Given the description of an element on the screen output the (x, y) to click on. 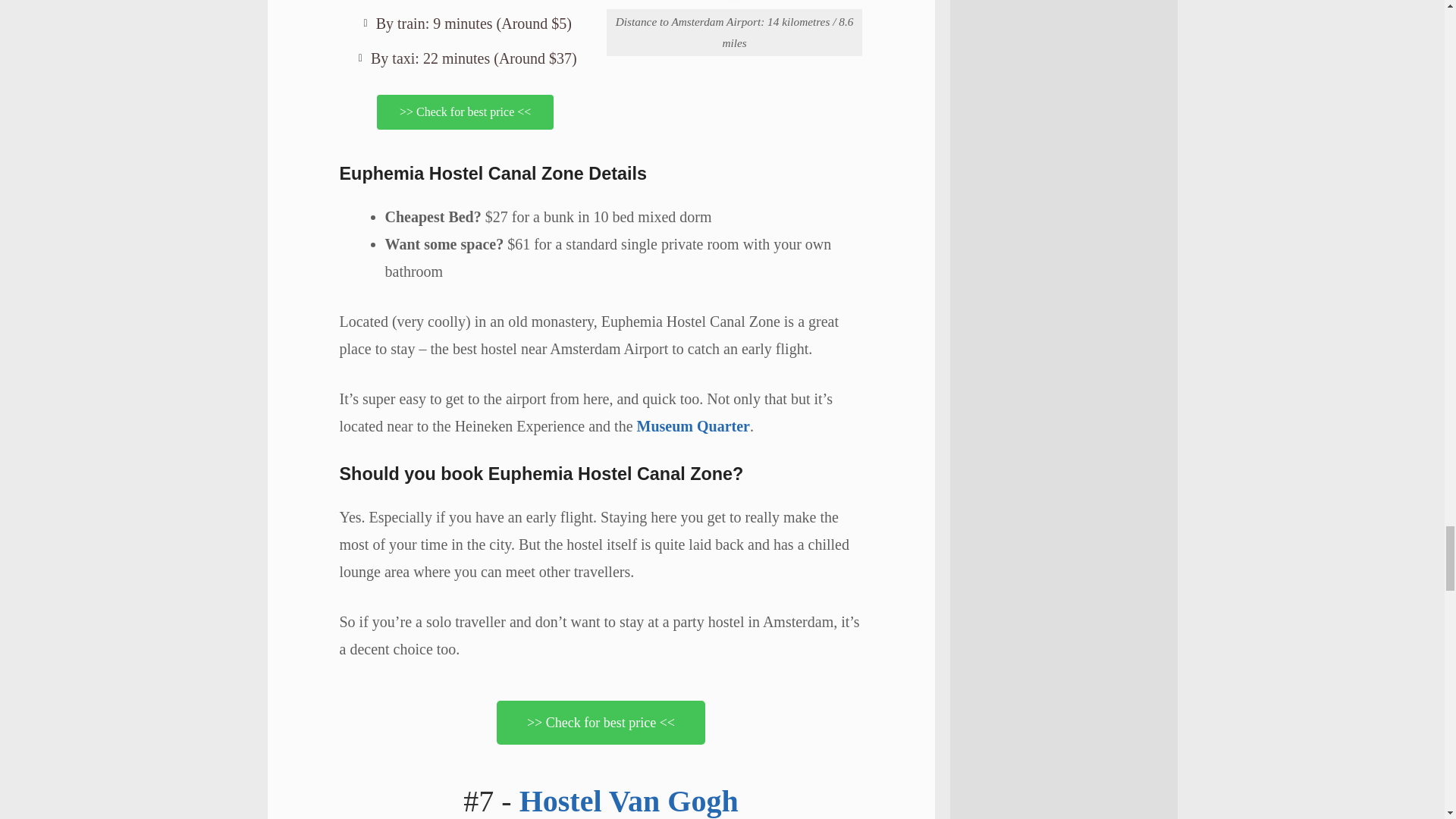
Museum Quarter (693, 425)
Hostel Van Gogh (628, 800)
